Given the description of an element on the screen output the (x, y) to click on. 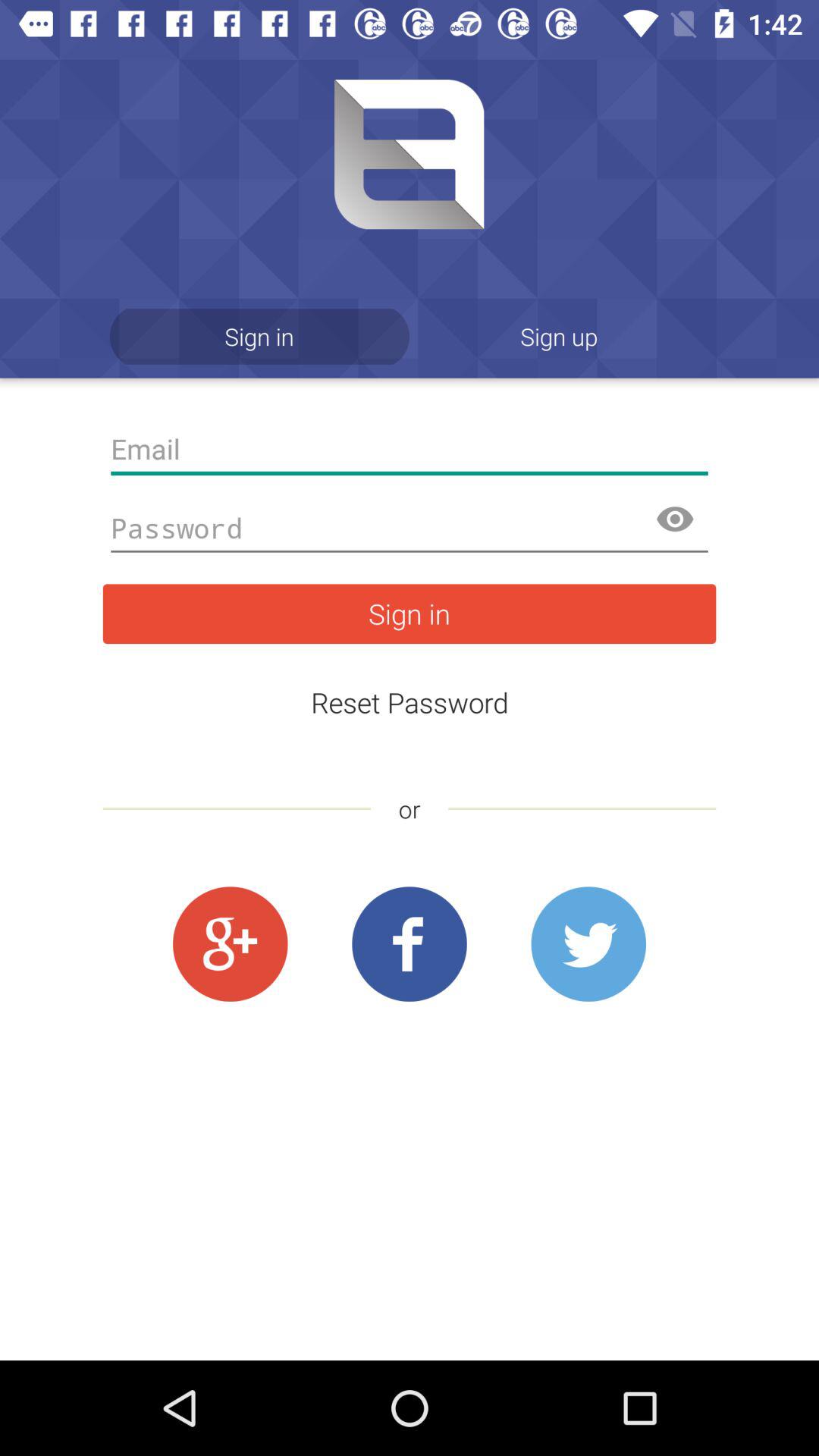
turn on icon above the sign in icon (409, 528)
